Given the description of an element on the screen output the (x, y) to click on. 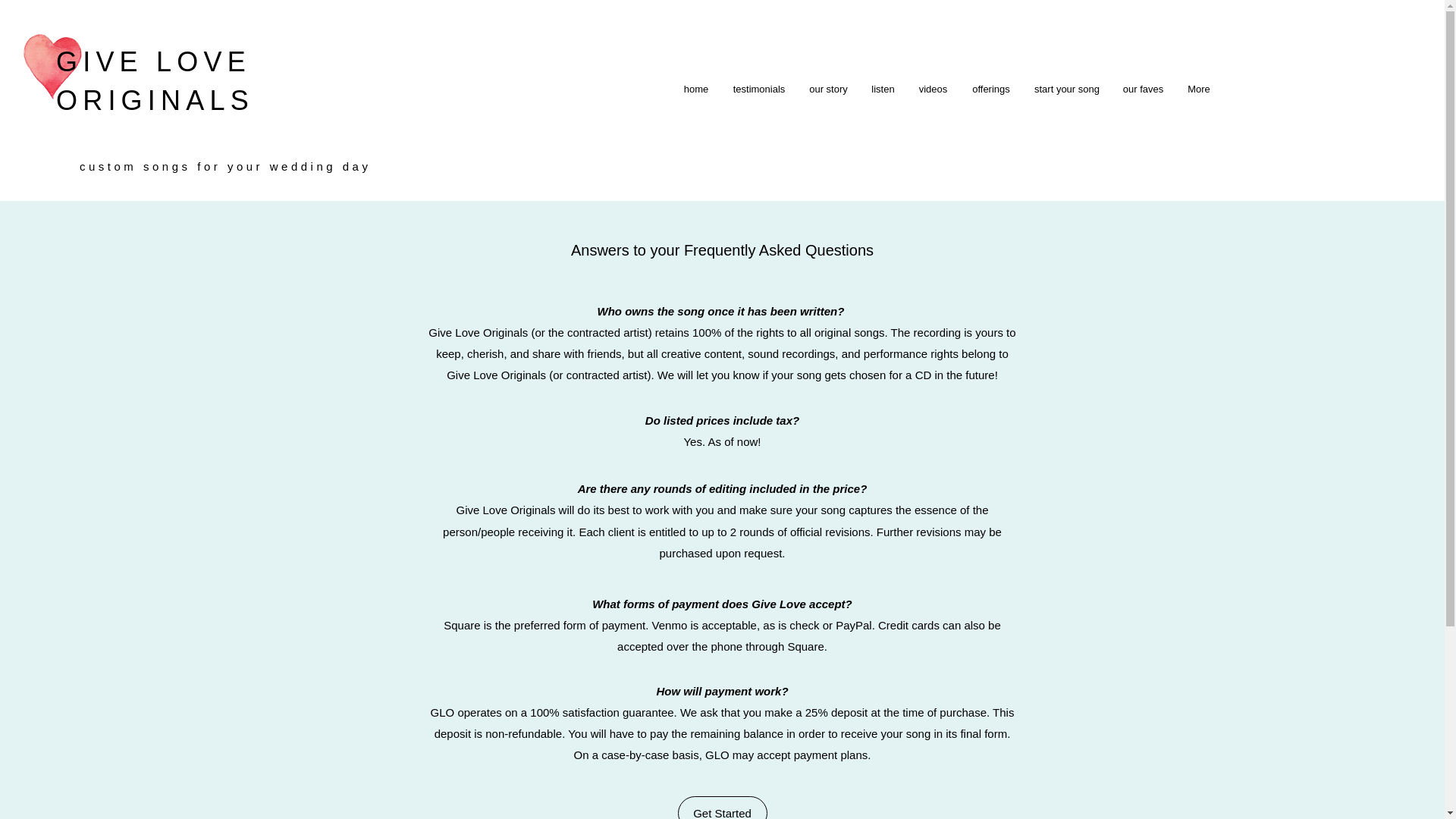
home (695, 89)
our story (828, 89)
testimonials (758, 89)
videos (933, 89)
start your song (1066, 89)
listen (883, 89)
offerings (991, 89)
our faves (1143, 89)
